Given the description of an element on the screen output the (x, y) to click on. 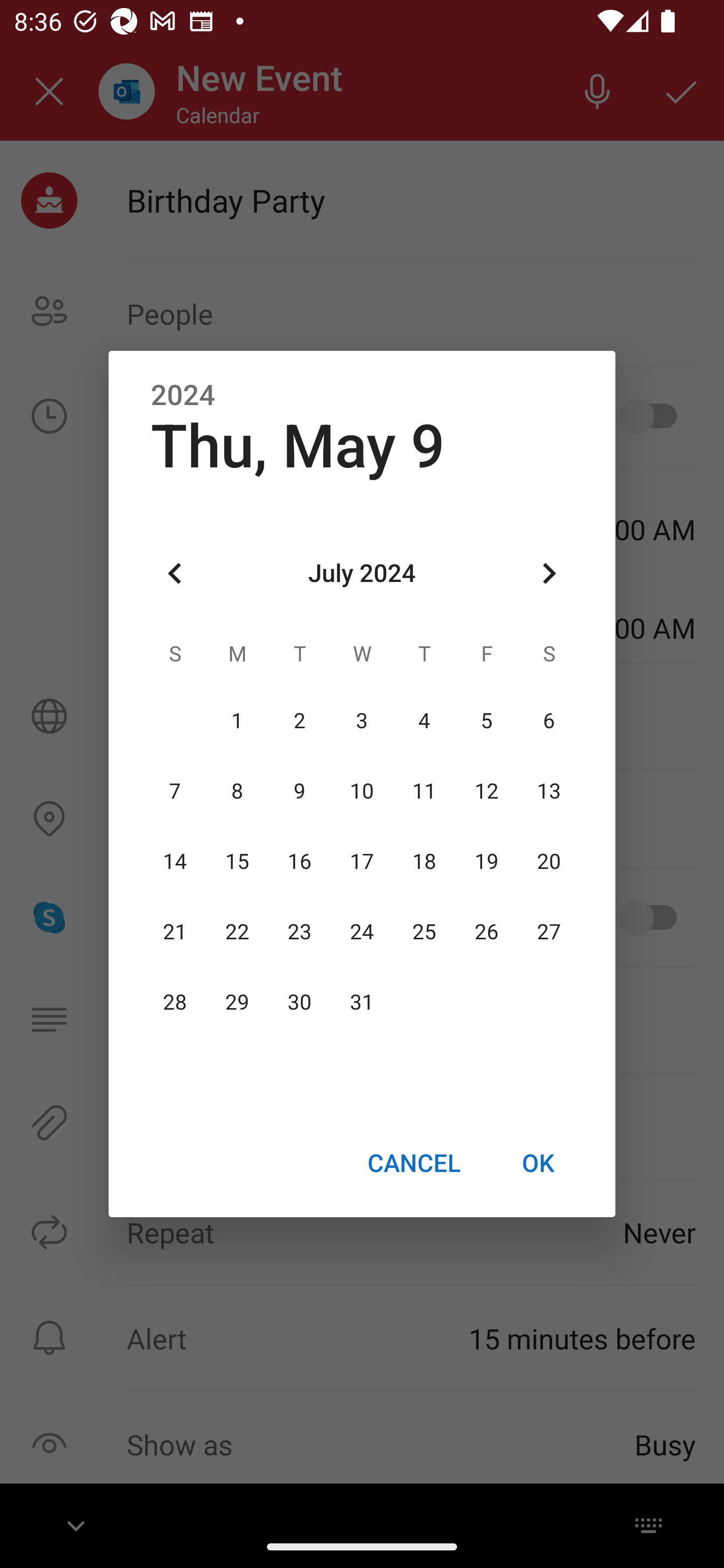
2024 (182, 395)
Thu, May 9 (297, 446)
Previous month (174, 573)
Next month (548, 573)
1 01 July 2024 (237, 720)
2 02 July 2024 (299, 720)
3 03 July 2024 (361, 720)
4 04 July 2024 (424, 720)
5 05 July 2024 (486, 720)
6 06 July 2024 (548, 720)
7 07 July 2024 (175, 790)
8 08 July 2024 (237, 790)
9 09 July 2024 (299, 790)
10 10 July 2024 (361, 790)
11 11 July 2024 (424, 790)
12 12 July 2024 (486, 790)
13 13 July 2024 (548, 790)
14 14 July 2024 (175, 861)
15 15 July 2024 (237, 861)
16 16 July 2024 (299, 861)
17 17 July 2024 (361, 861)
18 18 July 2024 (424, 861)
19 19 July 2024 (486, 861)
20 20 July 2024 (548, 861)
21 21 July 2024 (175, 931)
22 22 July 2024 (237, 931)
23 23 July 2024 (299, 931)
24 24 July 2024 (361, 931)
25 25 July 2024 (424, 931)
26 26 July 2024 (486, 931)
27 27 July 2024 (548, 931)
28 28 July 2024 (175, 1002)
29 29 July 2024 (237, 1002)
30 30 July 2024 (299, 1002)
31 31 July 2024 (361, 1002)
CANCEL (413, 1162)
OK (537, 1162)
